Given the description of an element on the screen output the (x, y) to click on. 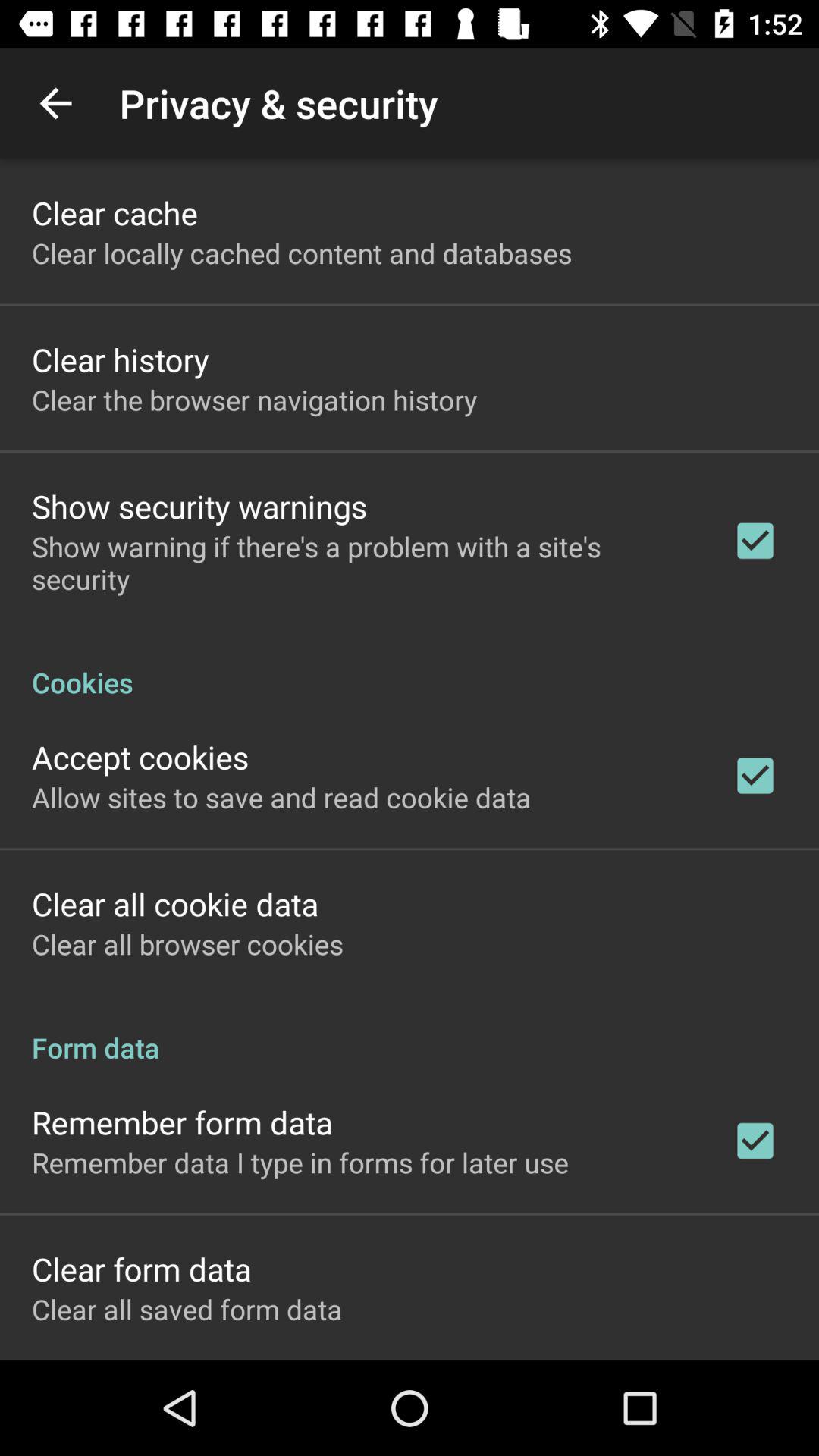
turn on app below accept cookies icon (281, 797)
